Given the description of an element on the screen output the (x, y) to click on. 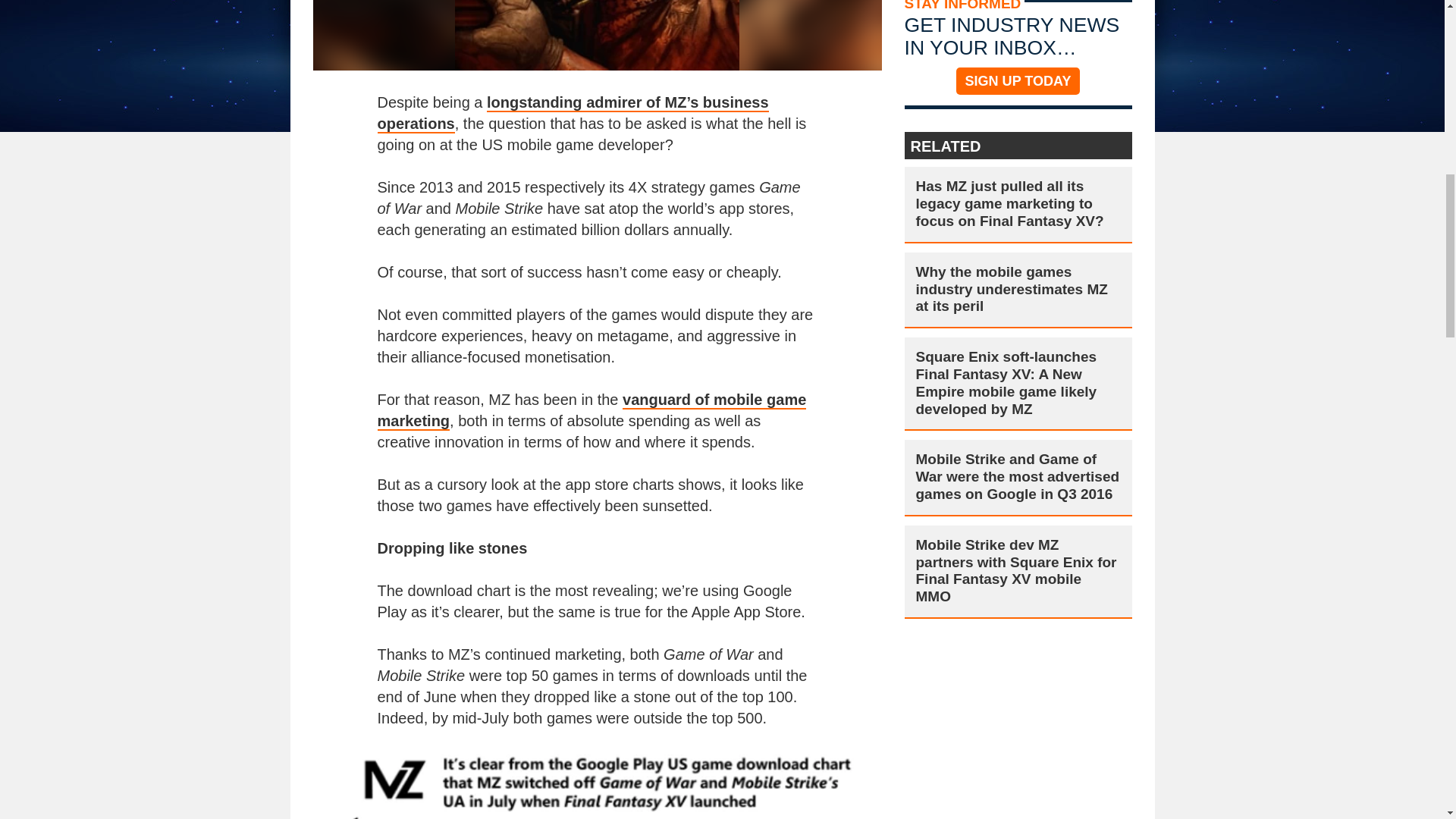
vanguard of mobile game marketing (591, 410)
